Given the description of an element on the screen output the (x, y) to click on. 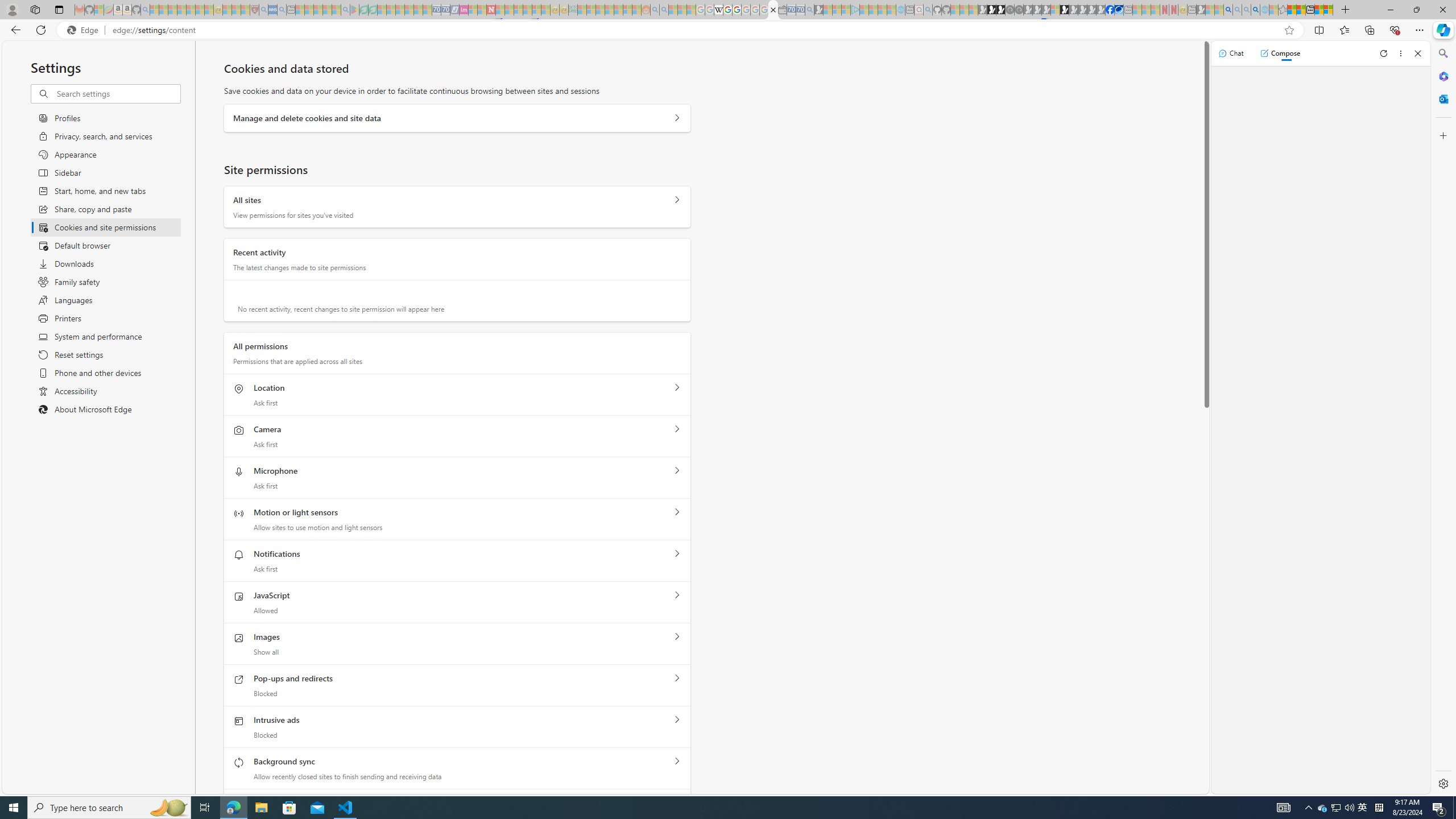
The Weather Channel - MSN - Sleeping (172, 9)
Future Focus Report 2024 - Sleeping (1018, 9)
Location (676, 387)
Chat (1230, 52)
Local - MSN - Sleeping (244, 9)
DITOGAMES AG Imprint - Sleeping (572, 9)
